Given the description of an element on the screen output the (x, y) to click on. 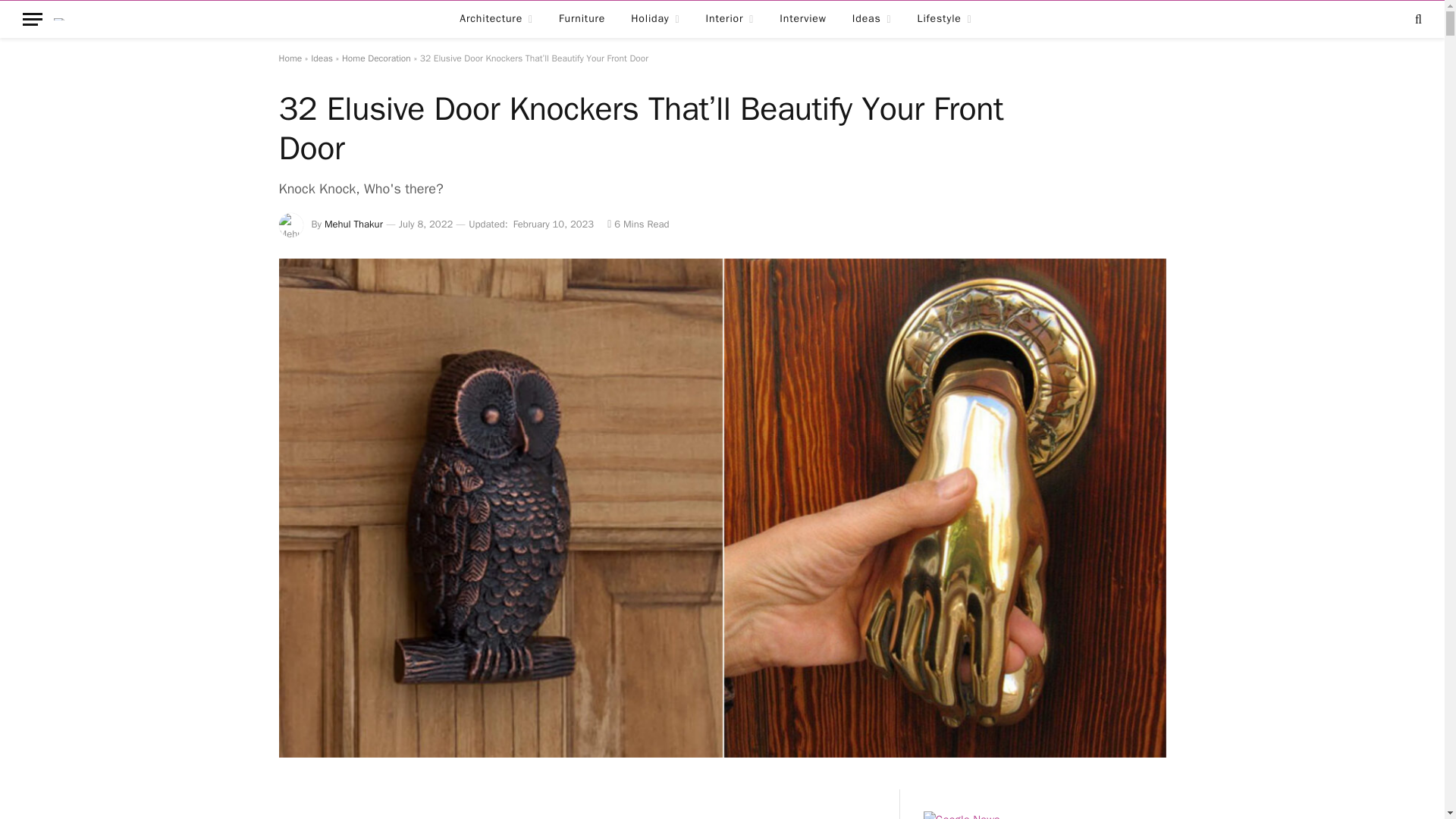
Homecrux (68, 18)
Posts by Mehul Thakur (353, 223)
Architecture (496, 18)
